Given the description of an element on the screen output the (x, y) to click on. 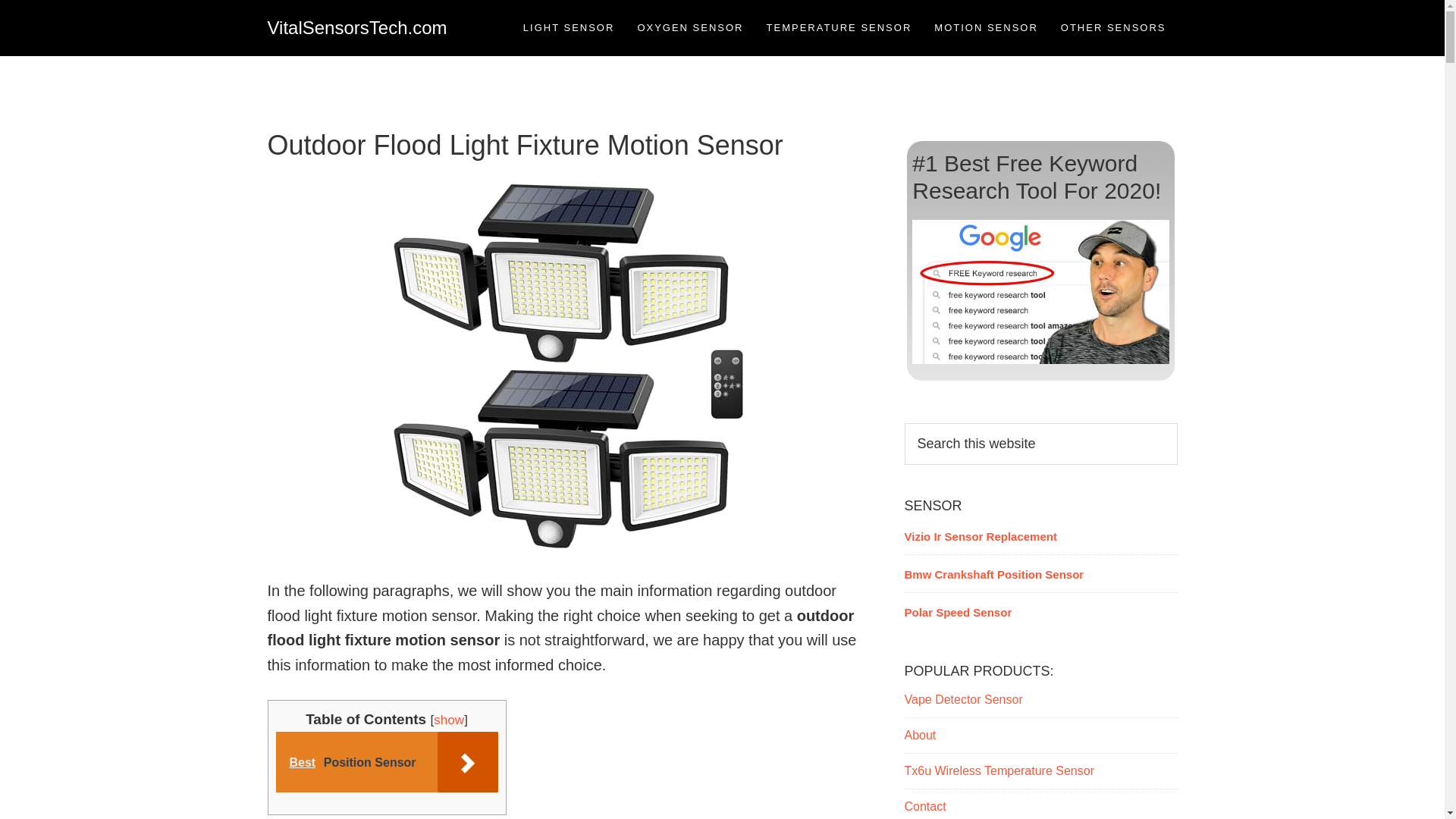
OXYGEN SENSOR (690, 27)
OTHER SENSORS (1113, 27)
MOTION SENSOR (986, 27)
Best  Position Sensor (386, 762)
show (448, 719)
TEMPERATURE SENSOR (839, 27)
VitalSensorsTech.com (356, 27)
LIGHT SENSOR (569, 27)
